Given the description of an element on the screen output the (x, y) to click on. 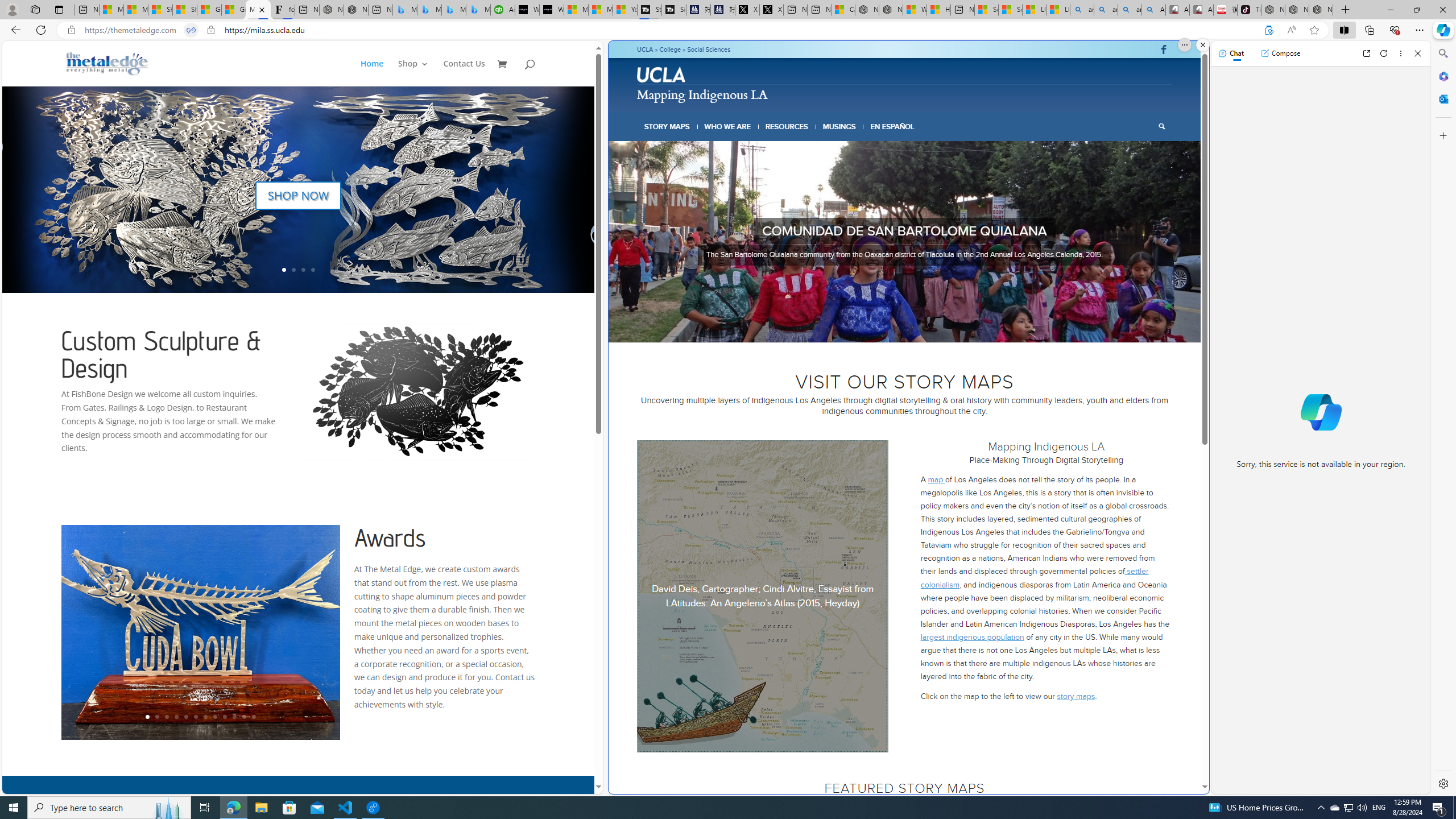
Tabs in split screen (190, 29)
10 (233, 716)
Metal Fish Sculptures & Metal Designs (106, 63)
Support THE UCLA FOUNDATION? (1268, 29)
